Given the description of an element on the screen output the (x, y) to click on. 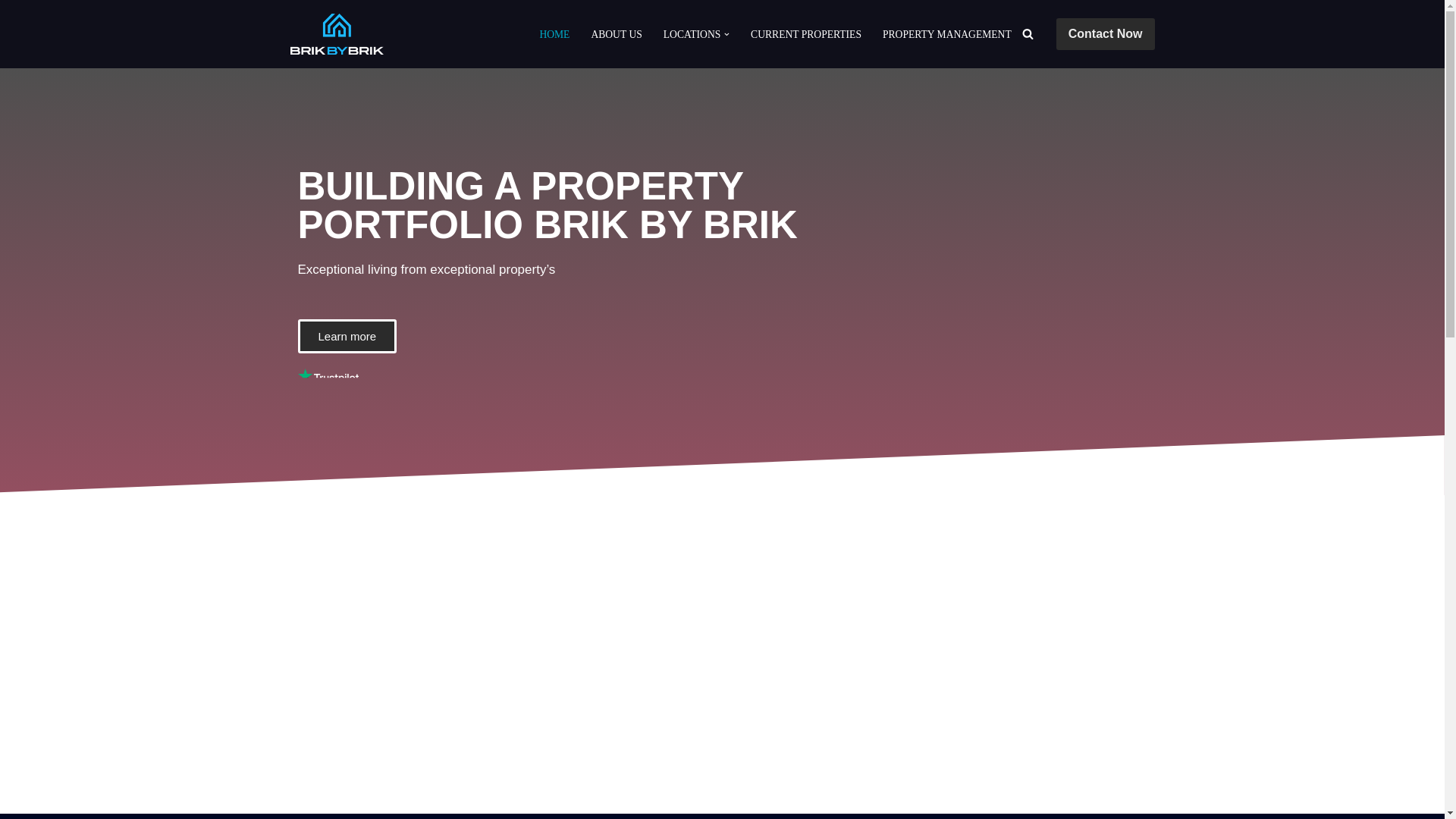
ABOUT US (616, 33)
Learn more (346, 335)
LOCATIONS (691, 33)
Contact Now (1105, 33)
CURRENT PROPERTIES (806, 33)
PROPERTY MANAGEMENT (946, 33)
HOME (553, 33)
Skip to content (11, 31)
